Given the description of an element on the screen output the (x, y) to click on. 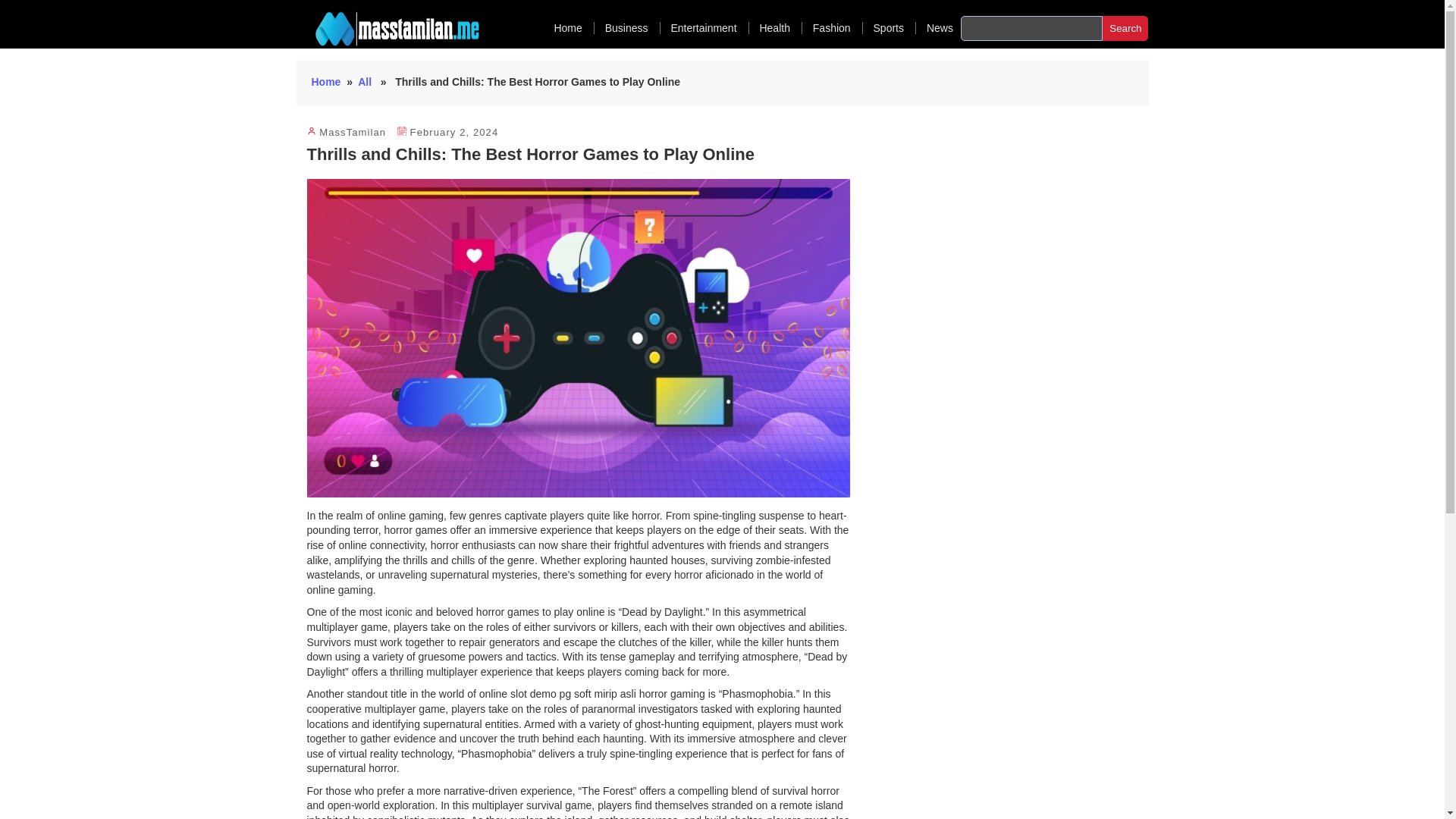
Search (1125, 27)
Entertainment (708, 28)
Fashion (837, 28)
All (364, 81)
Home (325, 81)
Home (573, 28)
Sports (894, 28)
Search (1125, 27)
slot demo pg soft mirip asli (571, 693)
News (939, 28)
